Given the description of an element on the screen output the (x, y) to click on. 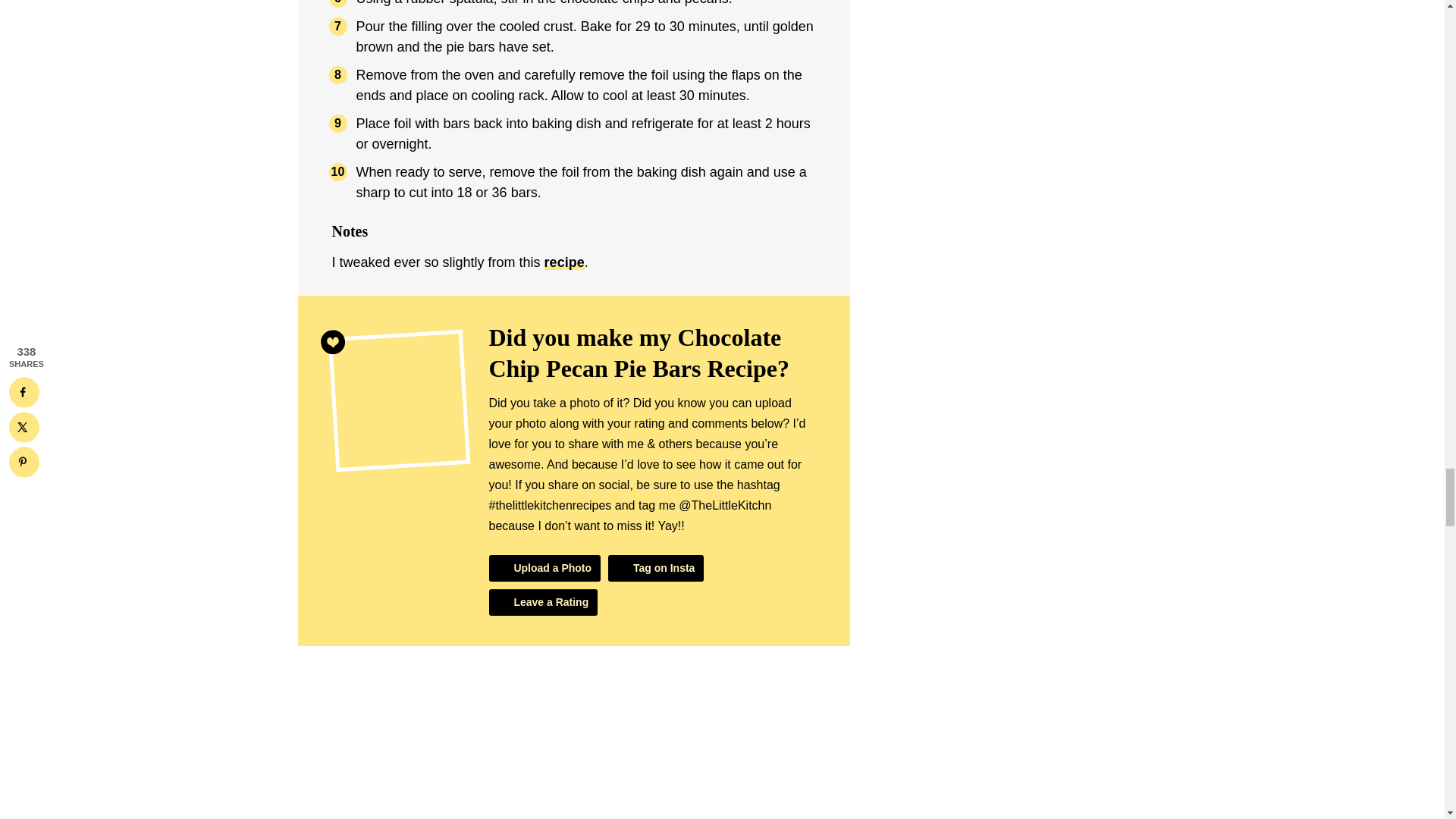
Tag on Insta (655, 568)
Upload a Photo (543, 568)
recipe (564, 262)
Chocolate Chip Pecan Pie Bars from thelittlekitchen.net (573, 747)
